Given the description of an element on the screen output the (x, y) to click on. 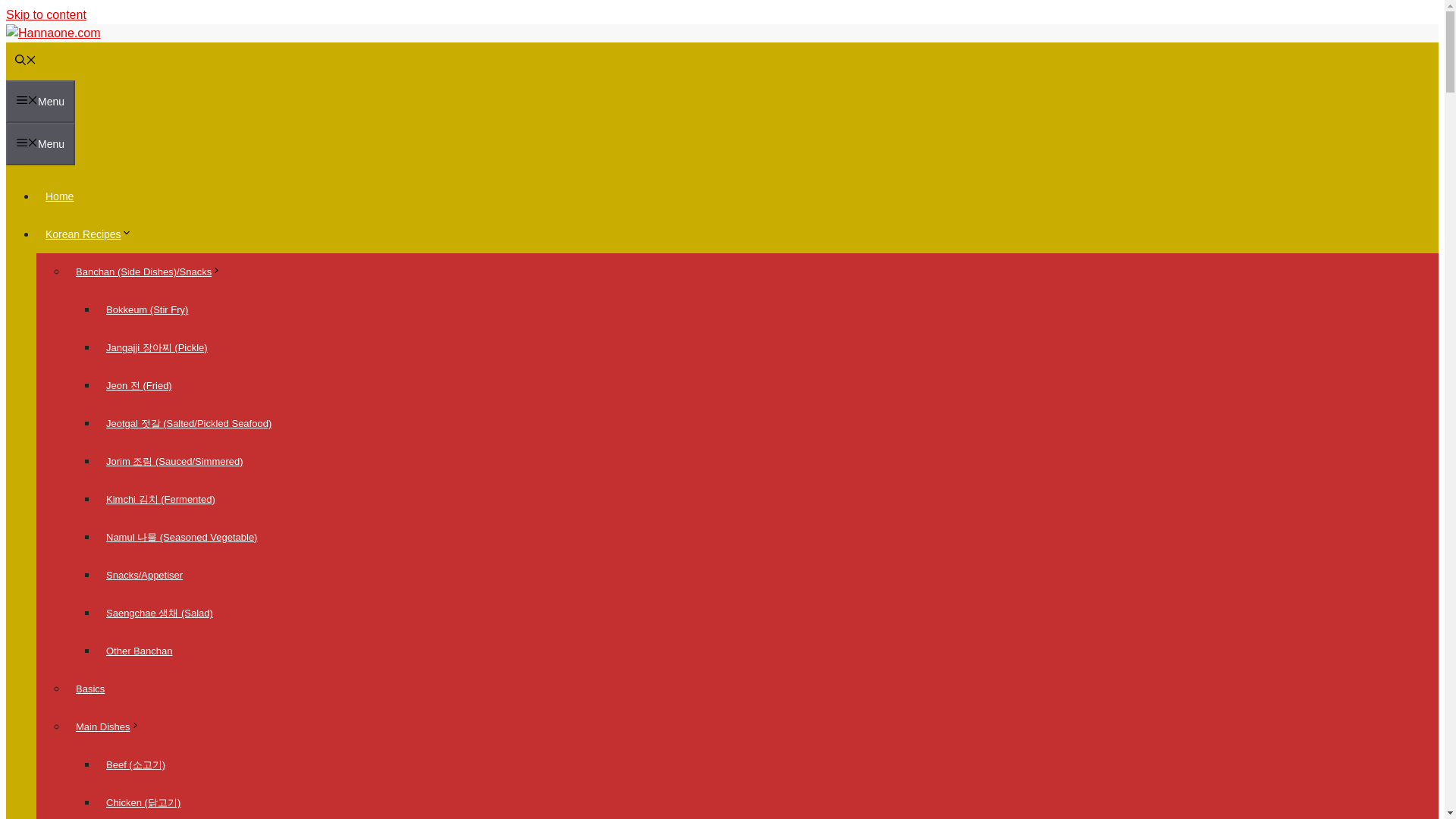
Main Dishes (112, 726)
Home (59, 196)
Skip to content (45, 14)
Skip to content (45, 14)
Menu (40, 101)
Other Banchan (138, 651)
Korean Recipes (92, 234)
Basics (89, 688)
Menu (40, 143)
